Given the description of an element on the screen output the (x, y) to click on. 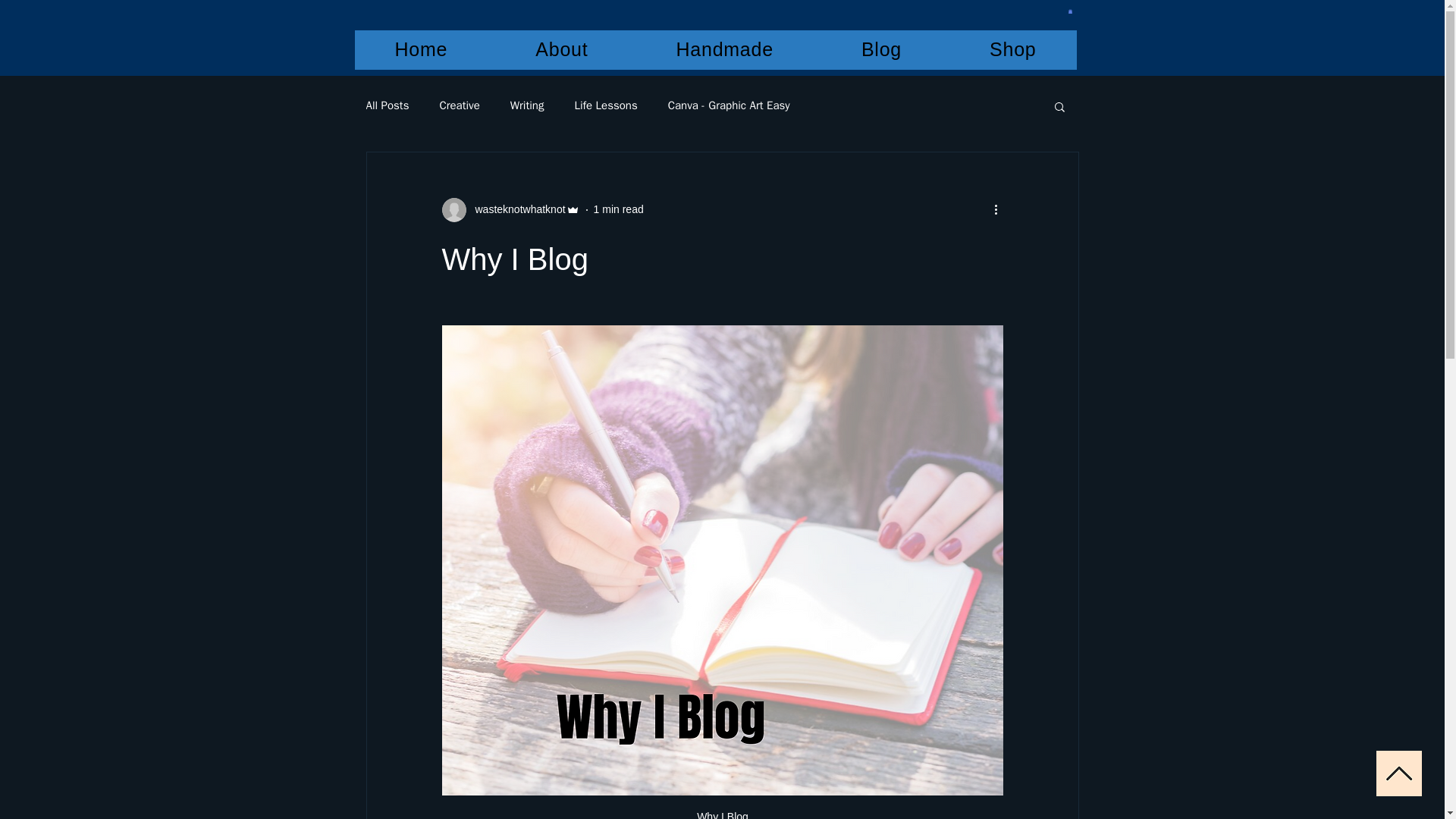
Home (421, 49)
1 min read (618, 209)
wasteknotwhatknot (510, 209)
Shop (1012, 49)
About (561, 49)
Life Lessons (605, 105)
Writing (527, 105)
Handmade (723, 49)
Canva - Graphic Art Easy (729, 105)
All Posts (387, 105)
